Given the description of an element on the screen output the (x, y) to click on. 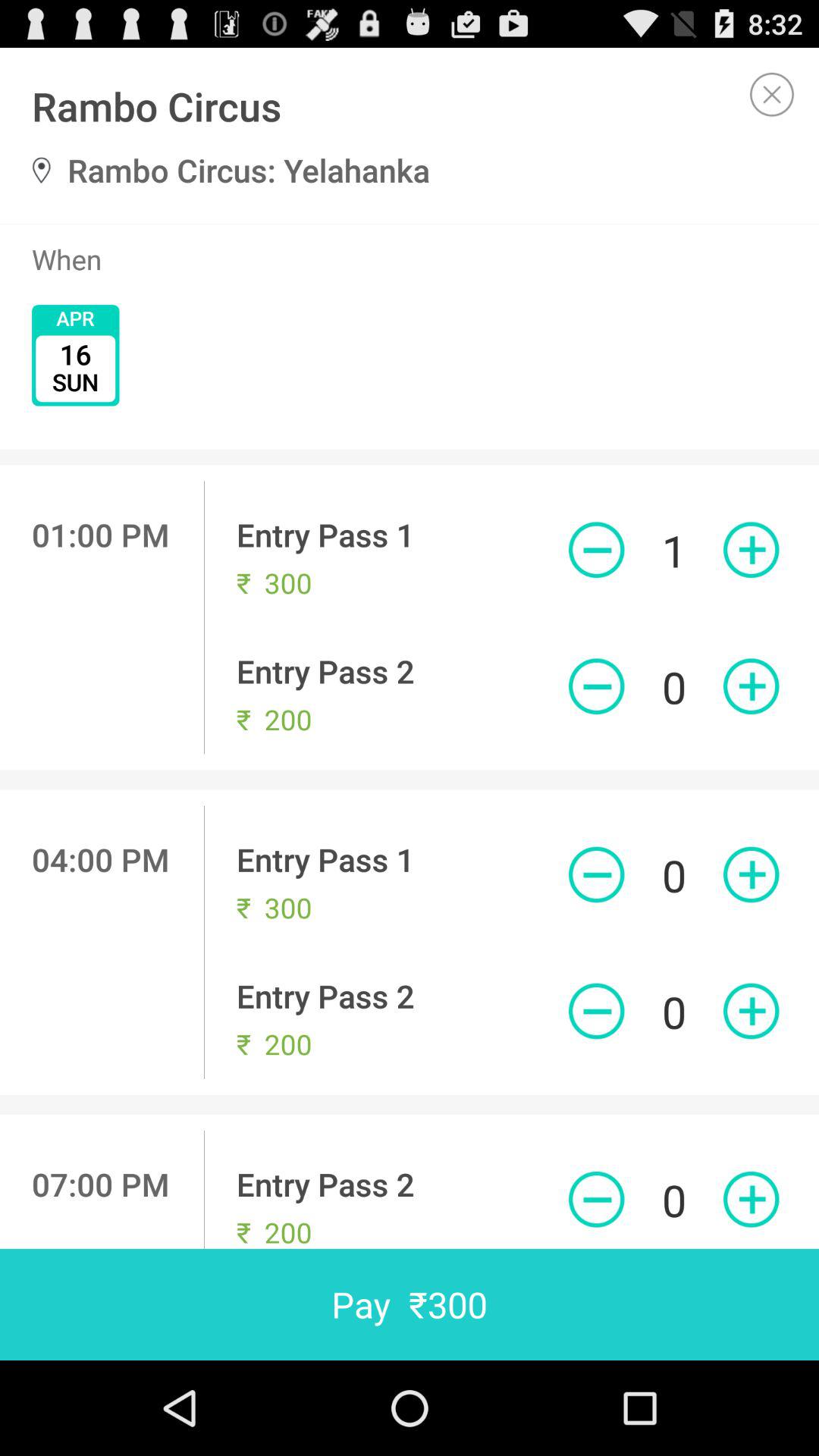
subtract 1 from entry pass 2 (596, 686)
